Given the description of an element on the screen output the (x, y) to click on. 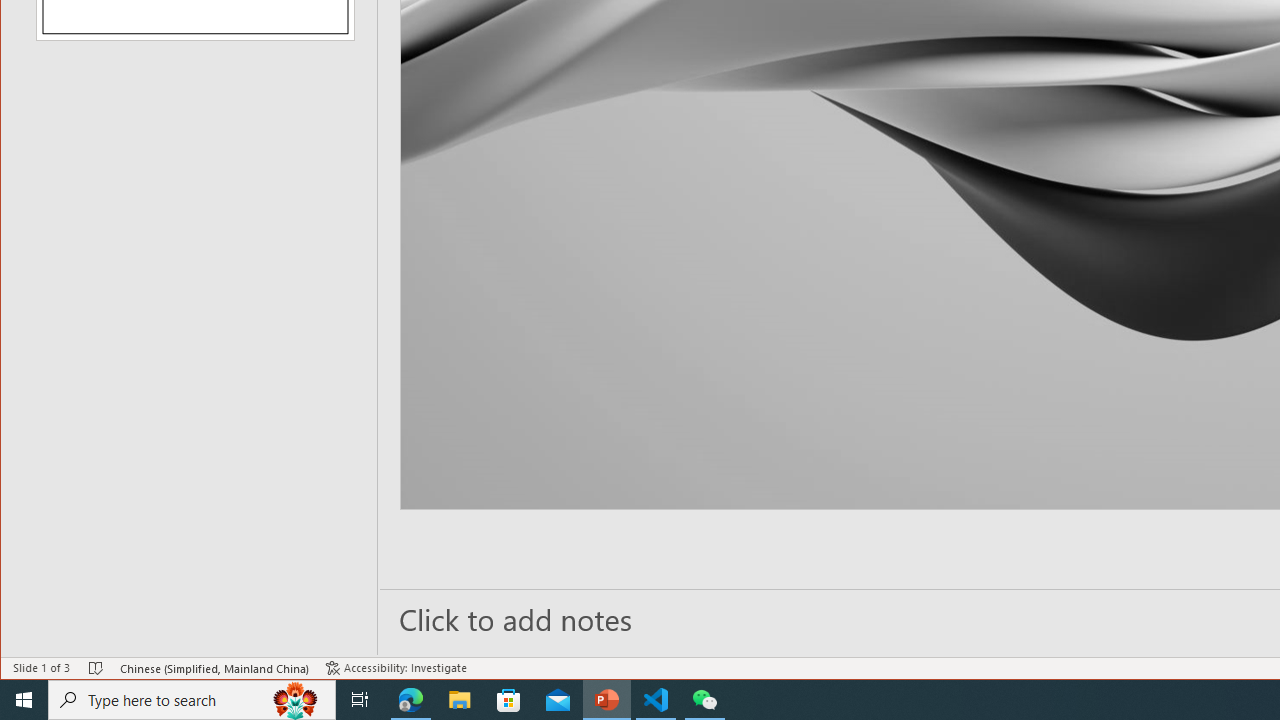
Accessibility Checker Accessibility: Investigate (395, 668)
WeChat - 1 running window (704, 699)
Microsoft Edge - 1 running window (411, 699)
Visual Studio Code - 1 running window (656, 699)
File Explorer (460, 699)
Spell Check No Errors (96, 668)
Task View (359, 699)
Start (24, 699)
Search highlights icon opens search home window (295, 699)
Type here to search (191, 699)
Microsoft Store (509, 699)
PowerPoint - 1 running window (607, 699)
